Given the description of an element on the screen output the (x, y) to click on. 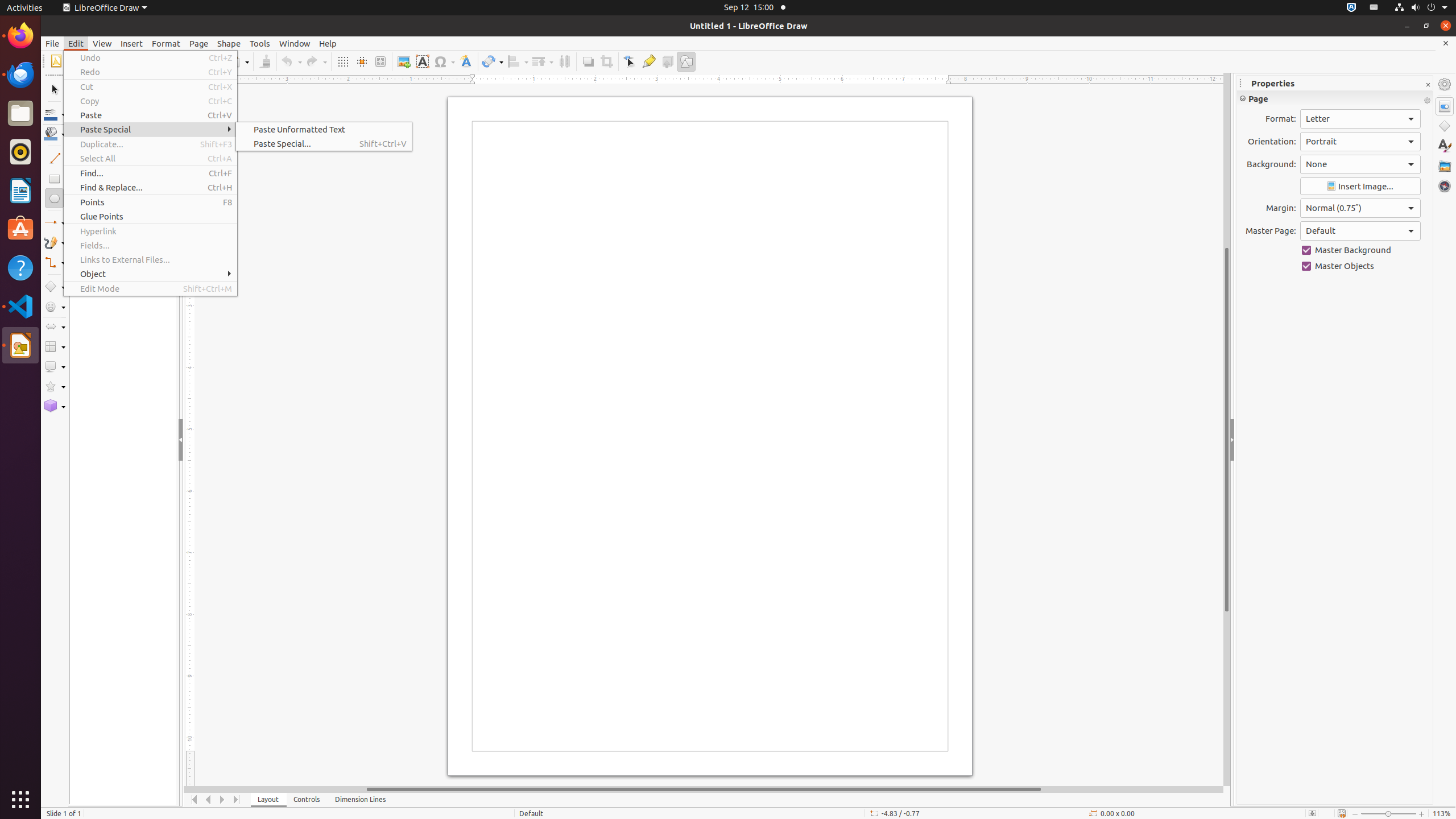
Align Element type: push-button (517, 61)
Page Element type: menu (198, 43)
Navigator Element type: radio-button (1444, 185)
Move Left Element type: push-button (208, 799)
More Options Element type: push-button (1426, 100)
